Given the description of an element on the screen output the (x, y) to click on. 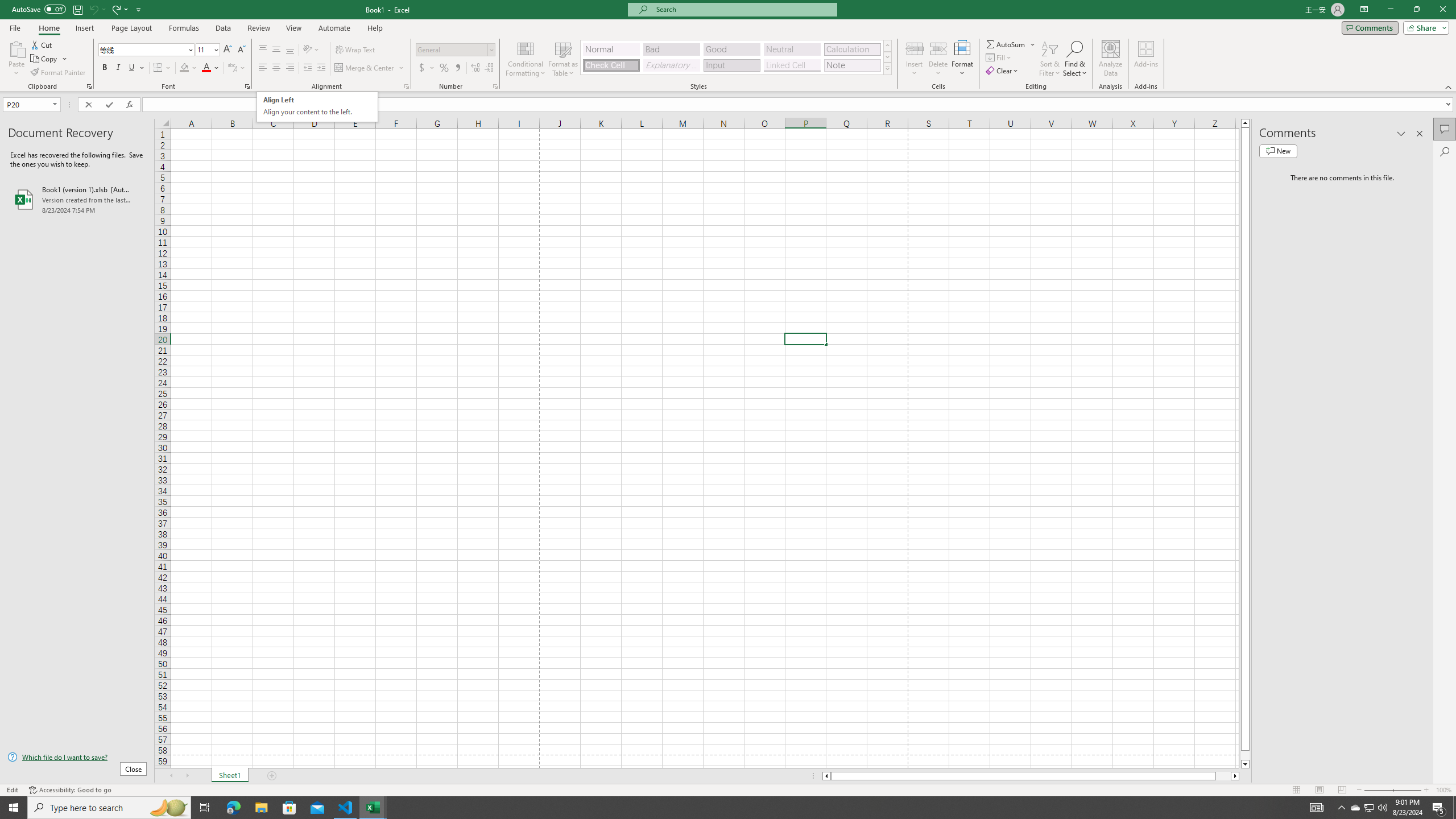
Increase Indent (320, 67)
Explanatory Text (671, 65)
Microsoft search (742, 9)
Row Down (887, 56)
Underline (136, 67)
Bold (104, 67)
Bad (671, 49)
Note (852, 65)
Paste (16, 58)
